Given the description of an element on the screen output the (x, y) to click on. 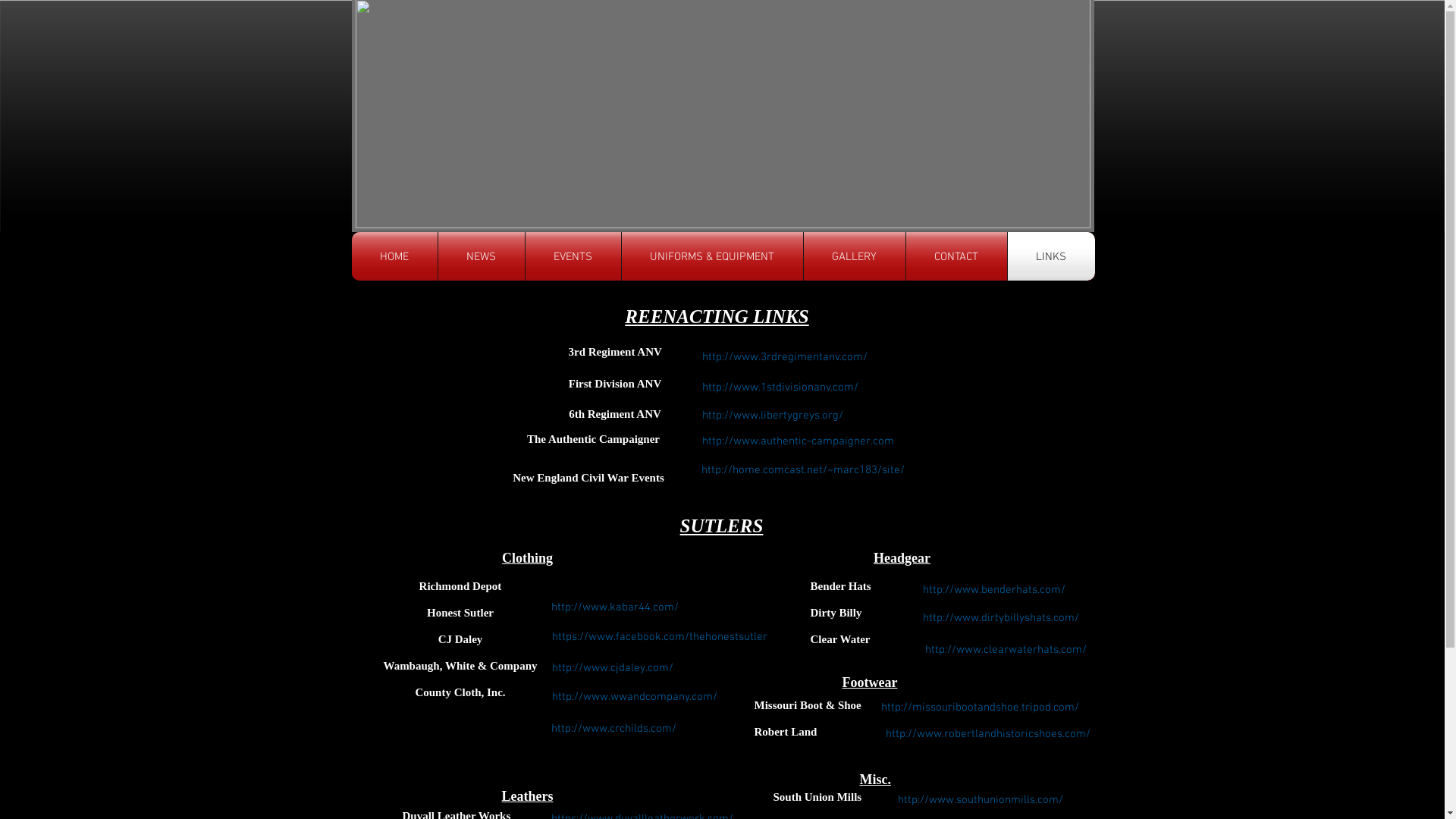
HOME Element type: text (394, 256)
http://www.southunionmills.com/ Element type: text (980, 798)
http://www.robertlandhistoricshoes.com/ Element type: text (987, 732)
http://www.3rdregimentanv.com/ Element type: text (784, 355)
http://www.1stdivisionanv.com/ Element type: text (780, 386)
http://www.benderhats.com/ Element type: text (993, 588)
LINKS Element type: text (1050, 256)
http://home.comcast.net/~marc183/site/ Element type: text (802, 468)
CONTACT Element type: text (955, 256)
http://www.wwandcompany.com/ Element type: text (634, 695)
http://www.cjdaley.com/ Element type: text (612, 666)
http://www.kabar44.com/ Element type: text (613, 605)
https://www.facebook.com/thehonestsutler Element type: text (659, 635)
http://www.authentic-campaigner.com Element type: text (798, 439)
UNIFORMS & EQUIPMENT Element type: text (712, 256)
GALLERY Element type: text (854, 256)
http://www.crchilds.com/ Element type: text (613, 727)
http://www.libertygreys.org/ Element type: text (772, 414)
EVENTS Element type: text (572, 256)
http://missouribootandshoe.tripod.com/ Element type: text (980, 705)
http://www.dirtybillyshats.com/ Element type: text (1000, 616)
http://www.clearwaterhats.com/ Element type: text (1005, 647)
NEWS Element type: text (481, 256)
